Given the description of an element on the screen output the (x, y) to click on. 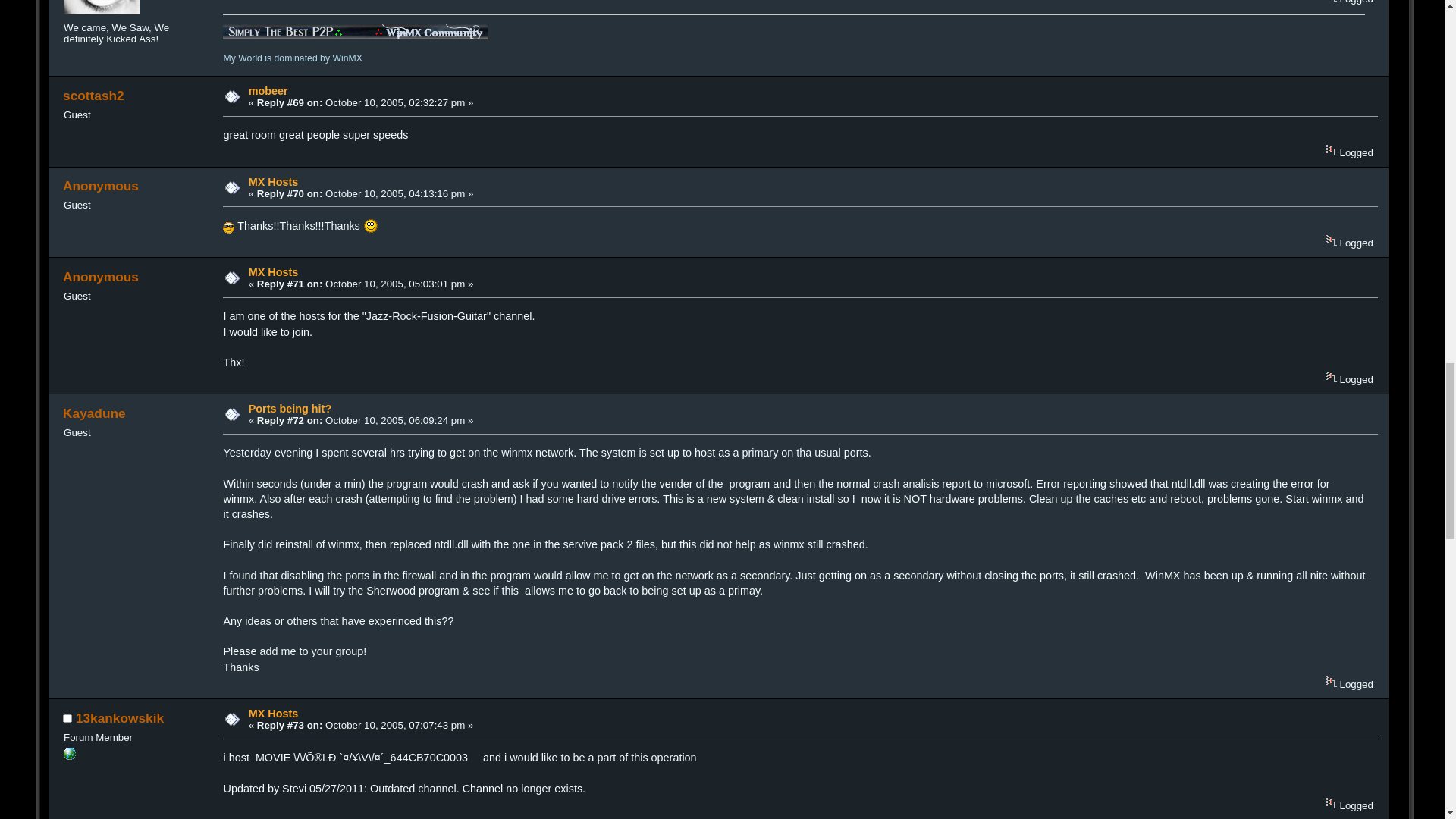
Razz (370, 225)
View the profile of 13kankowskik (119, 717)
Cool (228, 227)
